Given the description of an element on the screen output the (x, y) to click on. 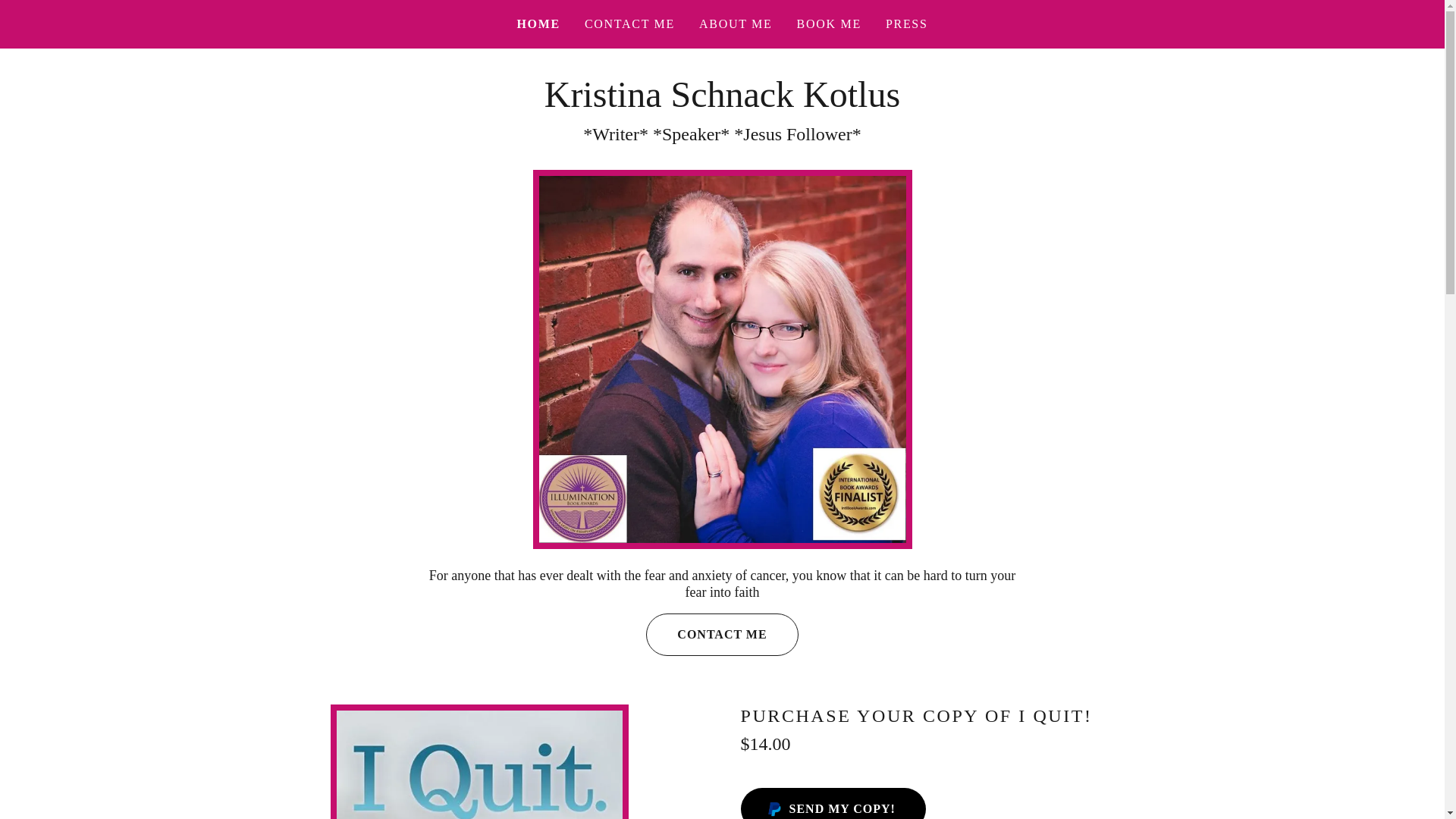
CONTACT ME (721, 634)
BOOK ME (829, 23)
Kristina Schnack Kotlus (721, 102)
ABOUT ME (735, 23)
CONTACT ME (629, 23)
SEND MY COPY! (831, 803)
Kristina Schnack Kotlus (721, 102)
HOME (538, 24)
PRESS (906, 23)
